Given the description of an element on the screen output the (x, y) to click on. 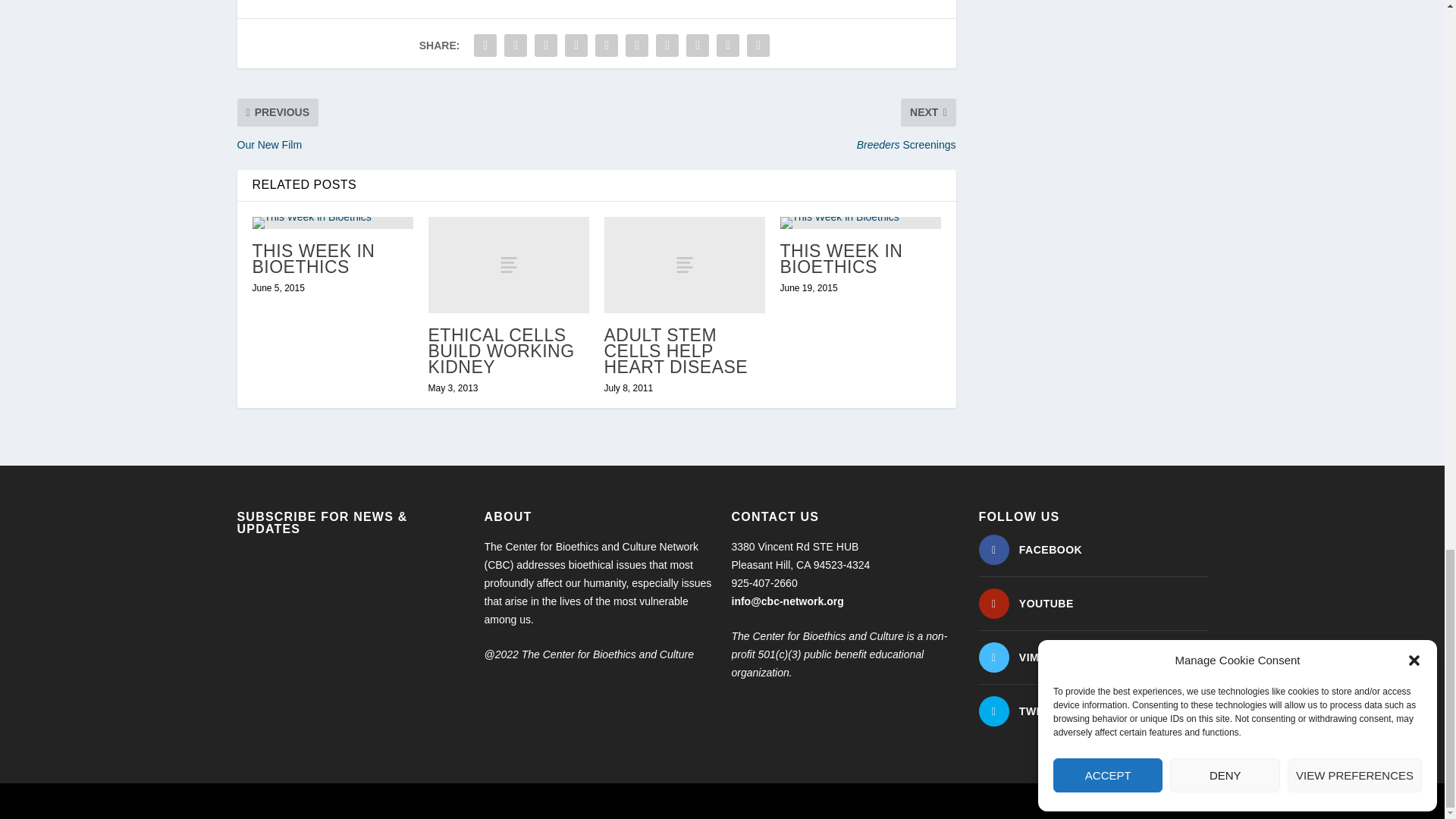
This Week in Bioethics (331, 223)
Adult Stem Cells Help Heart Disease (684, 264)
Ethical Cells Build Working Kidney (508, 264)
